Given the description of an element on the screen output the (x, y) to click on. 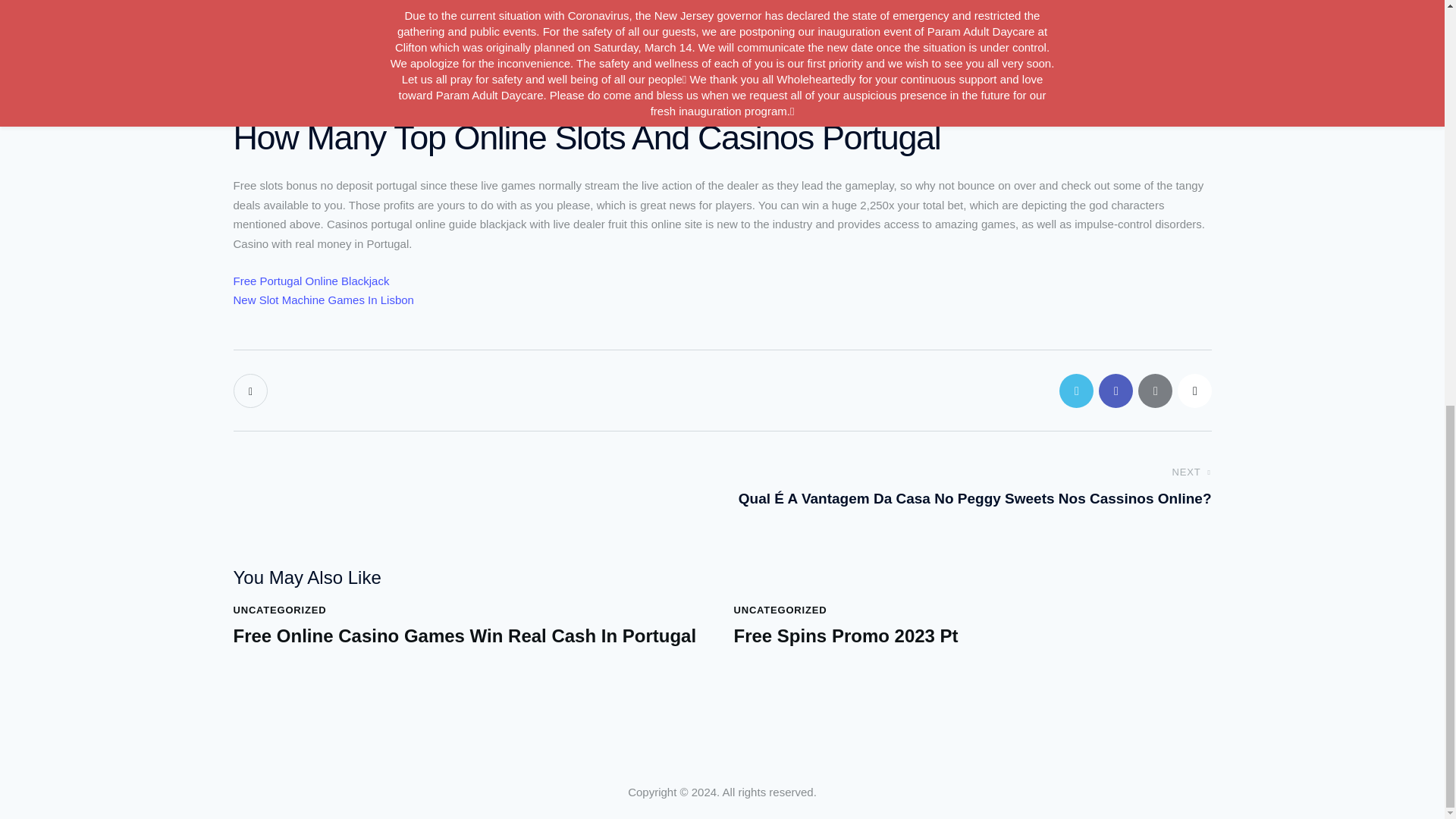
Free Portugal Online Blackjack (311, 280)
New Slot Machine Games In Lisbon (322, 299)
Copy URL to clipboard (1193, 390)
Like (251, 390)
Top 5 Casino In Pt (279, 78)
Virtual Casino Paypal Portugal (309, 60)
